Given the description of an element on the screen output the (x, y) to click on. 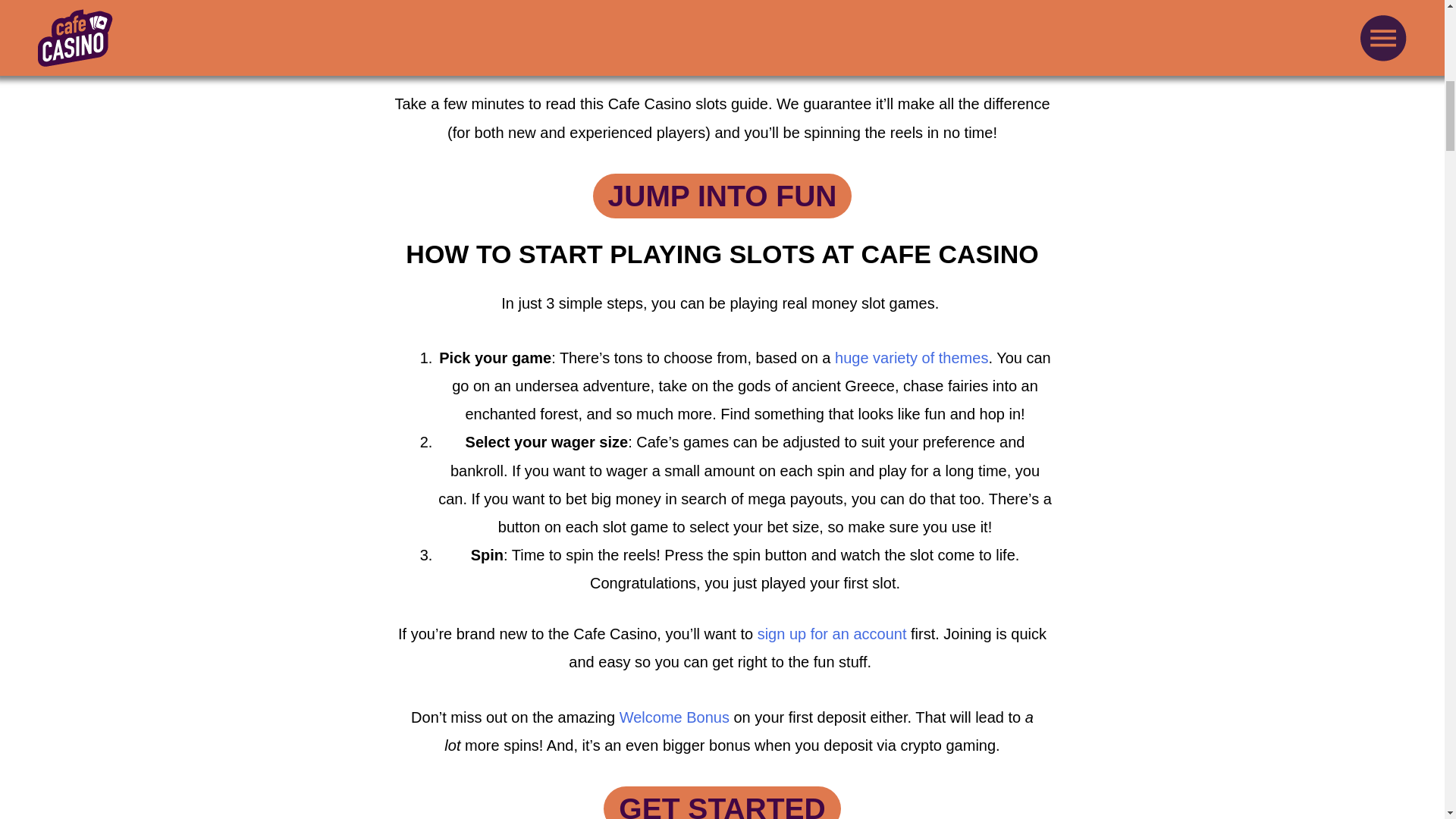
huge variety of themes (911, 357)
sign up for an account (832, 633)
JUMP INTO FUN (721, 195)
Welcome Bonus (674, 717)
GET STARTED (722, 802)
